Given the description of an element on the screen output the (x, y) to click on. 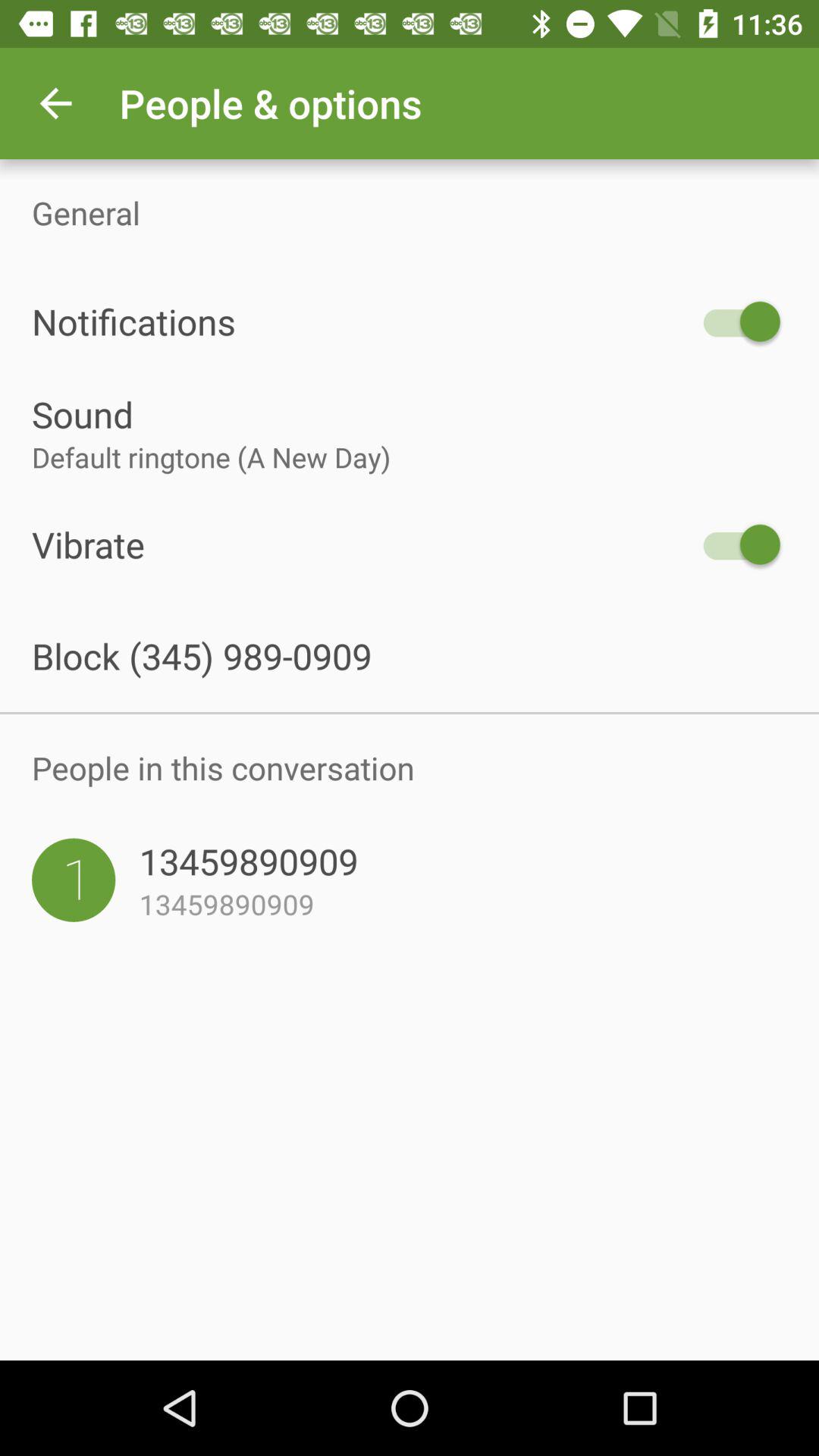
press icon above the general icon (55, 103)
